Given the description of an element on the screen output the (x, y) to click on. 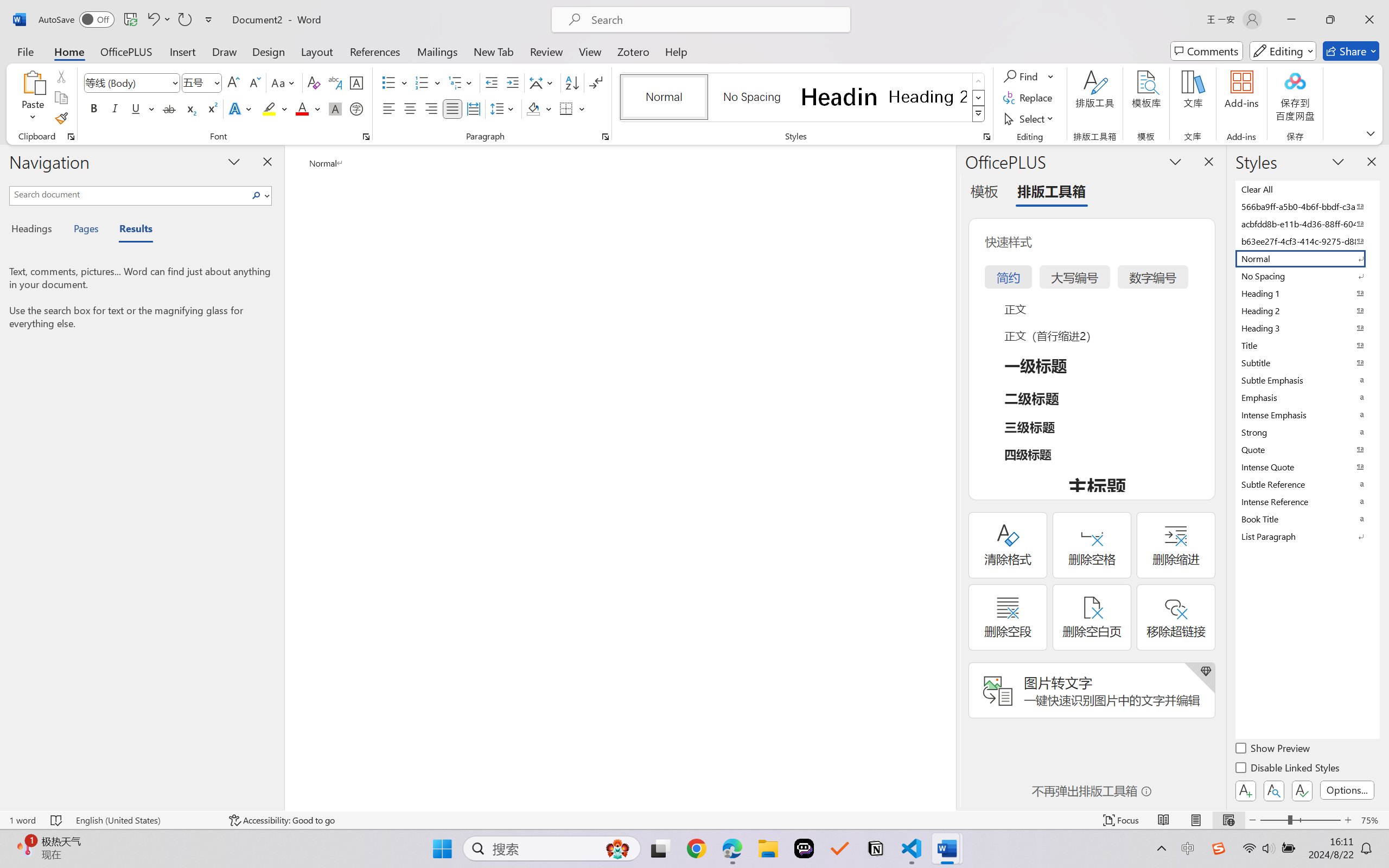
Format Painter (60, 118)
Class: MsoCommandBar (694, 819)
Class: NetUIButton (1301, 790)
Options... (1346, 789)
Select (1030, 118)
Undo Apply Quick Style (152, 19)
Superscript (210, 108)
Intense Quote (1306, 466)
Mode (1283, 50)
Repeat Doc Close (184, 19)
Save (130, 19)
